Given the description of an element on the screen output the (x, y) to click on. 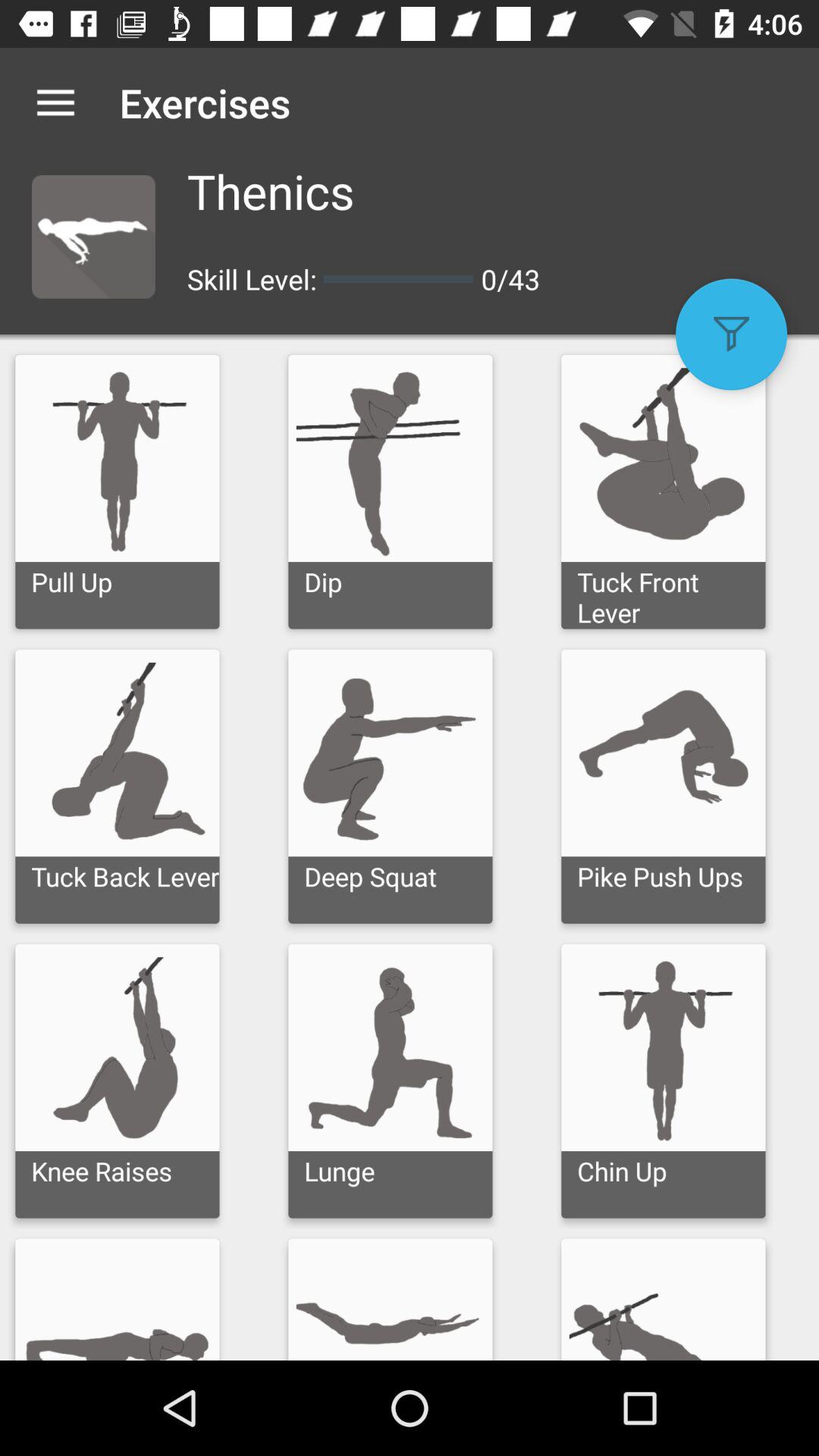
choose the item to the left of exercises icon (55, 102)
